Given the description of an element on the screen output the (x, y) to click on. 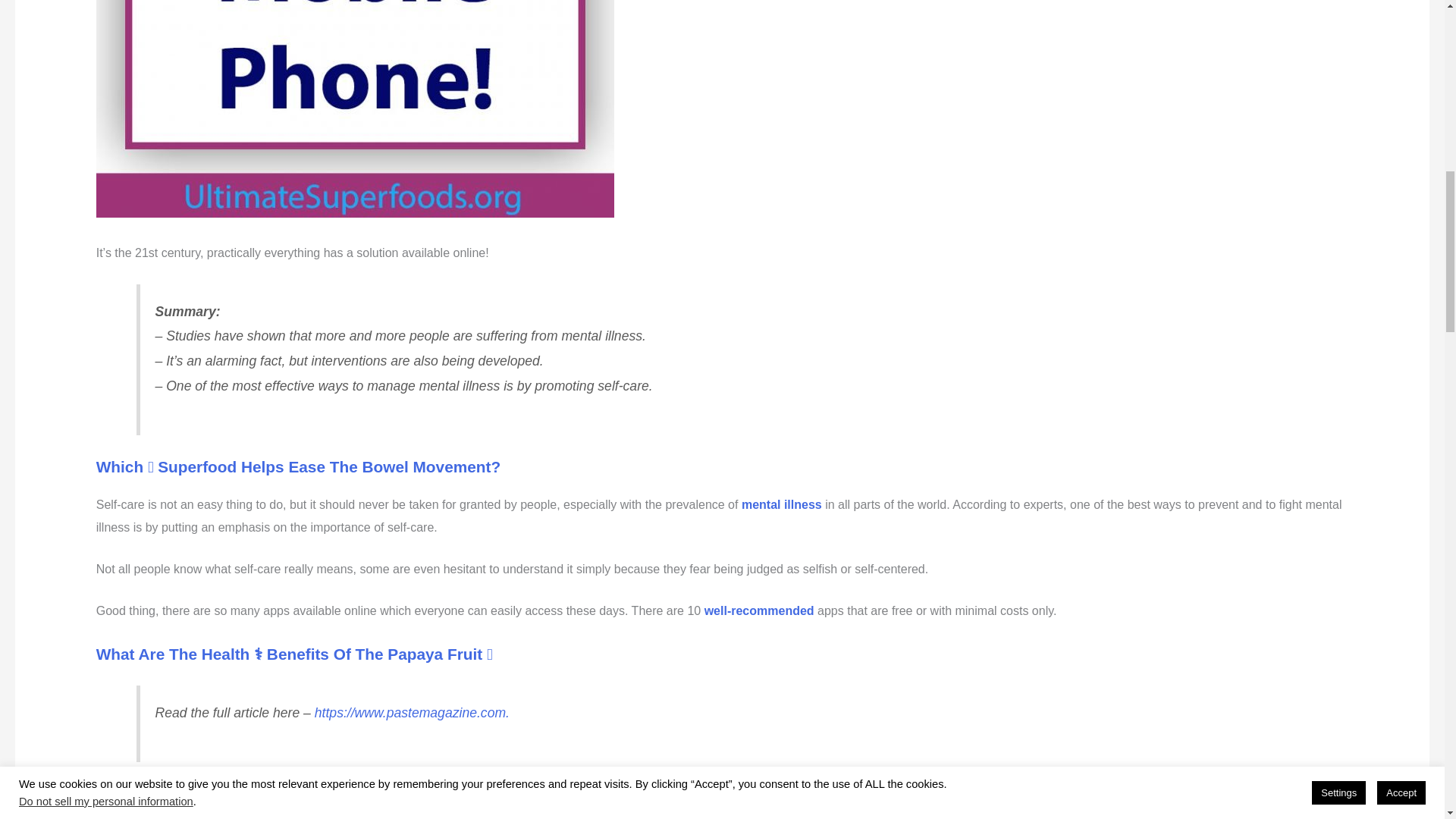
mental illness (781, 504)
well-recommended (758, 610)
